Given the description of an element on the screen output the (x, y) to click on. 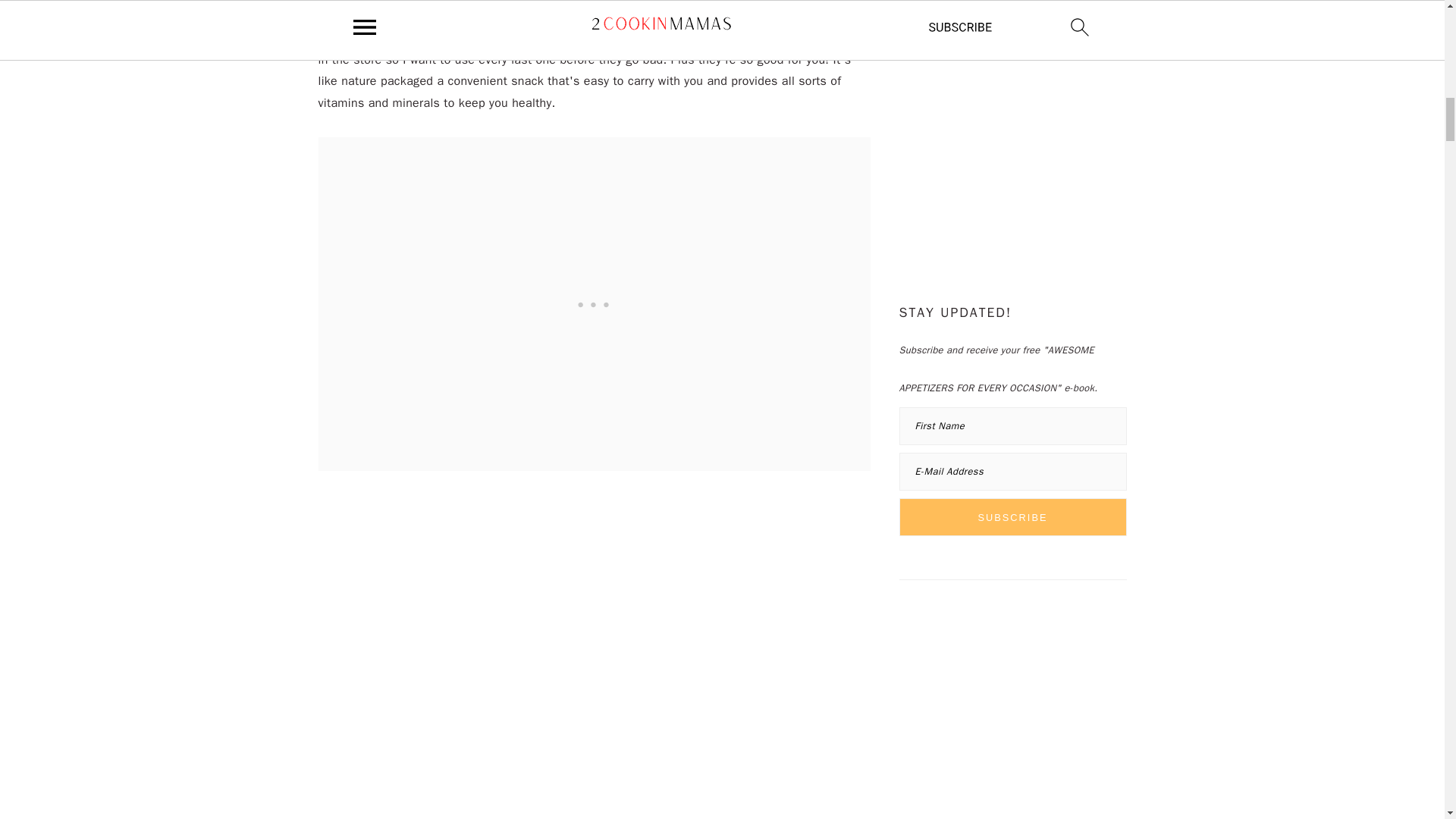
Chocolate Swirl Banana Bread (585, 11)
smoothies (475, 0)
Subscribe (1012, 516)
